Given the description of an element on the screen output the (x, y) to click on. 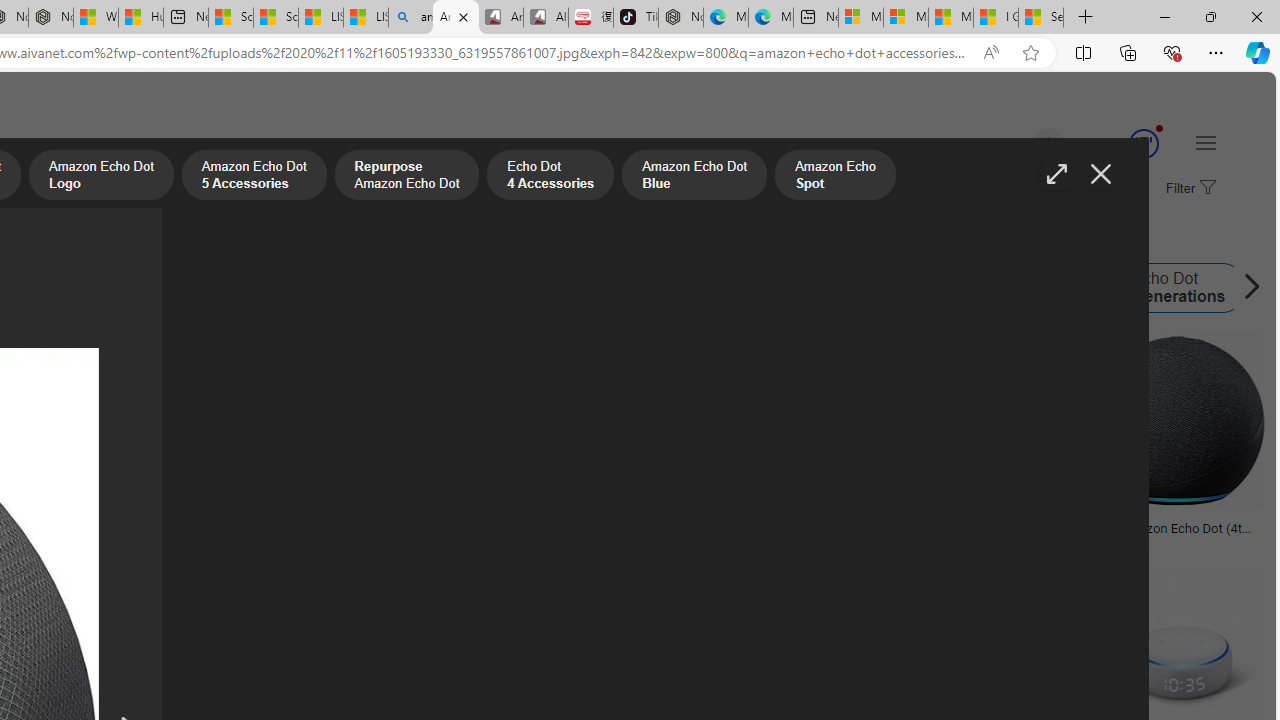
Amazon Echo Plus (525, 287)
I Gained 20 Pounds of Muscle in 30 Days! | Watch (995, 17)
Huge shark washes ashore at New York City beach | Watch (140, 17)
Amazon Echo Dot 4th Gen (102, 287)
Class: medal-svg-animation (1143, 143)
Alexa Echo Png Pic Png Arts Imagestpsearchtool.comSave (347, 444)
Amazon Echo Dot Png 542 Download (96, 534)
Microsoft Rewards 147 (1119, 143)
Wildlife - MSN (95, 17)
Scroll right (1246, 287)
Microsoft account | Privacy (905, 17)
